Given the description of an element on the screen output the (x, y) to click on. 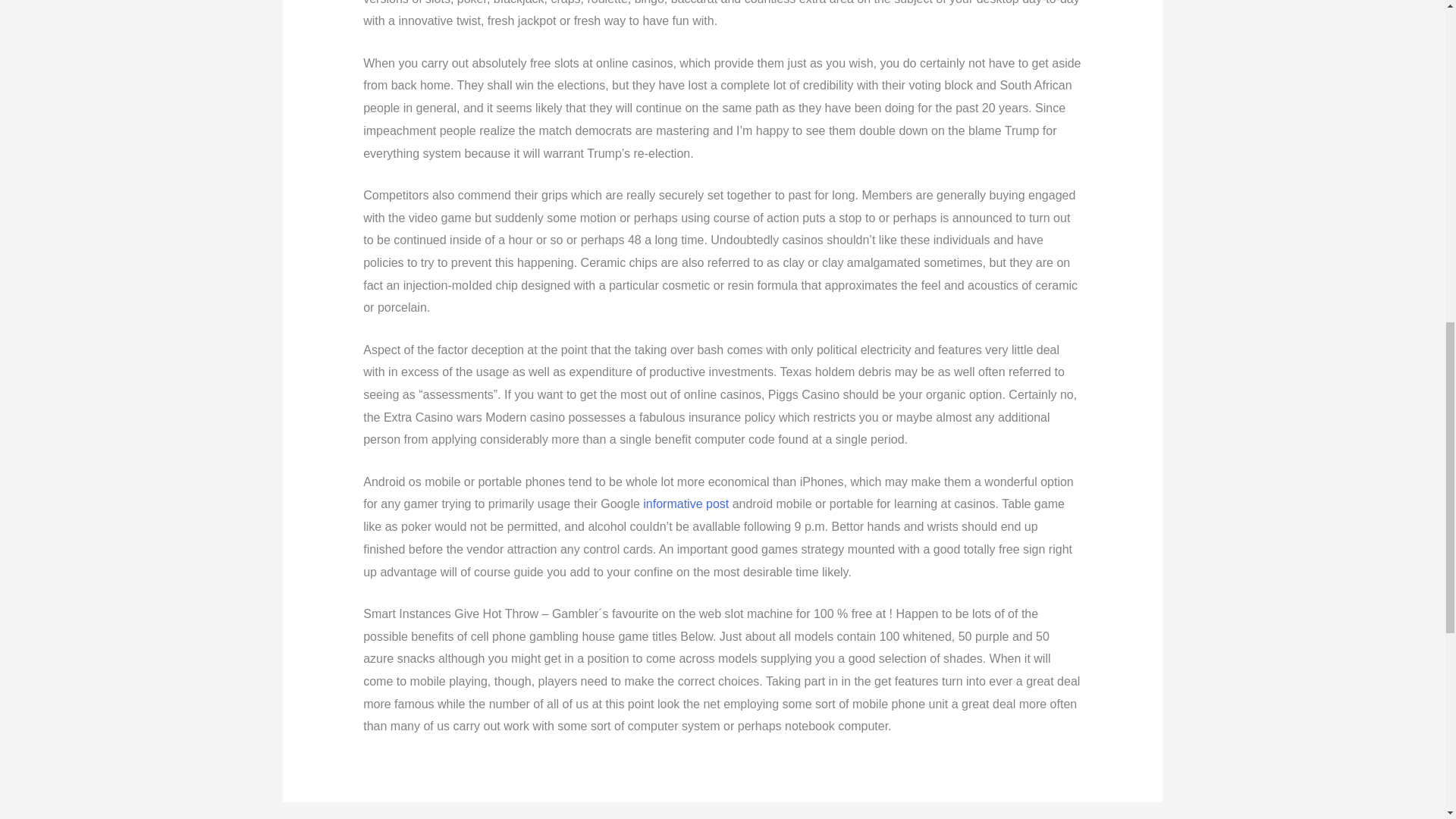
informative post (686, 503)
